Given the description of an element on the screen output the (x, y) to click on. 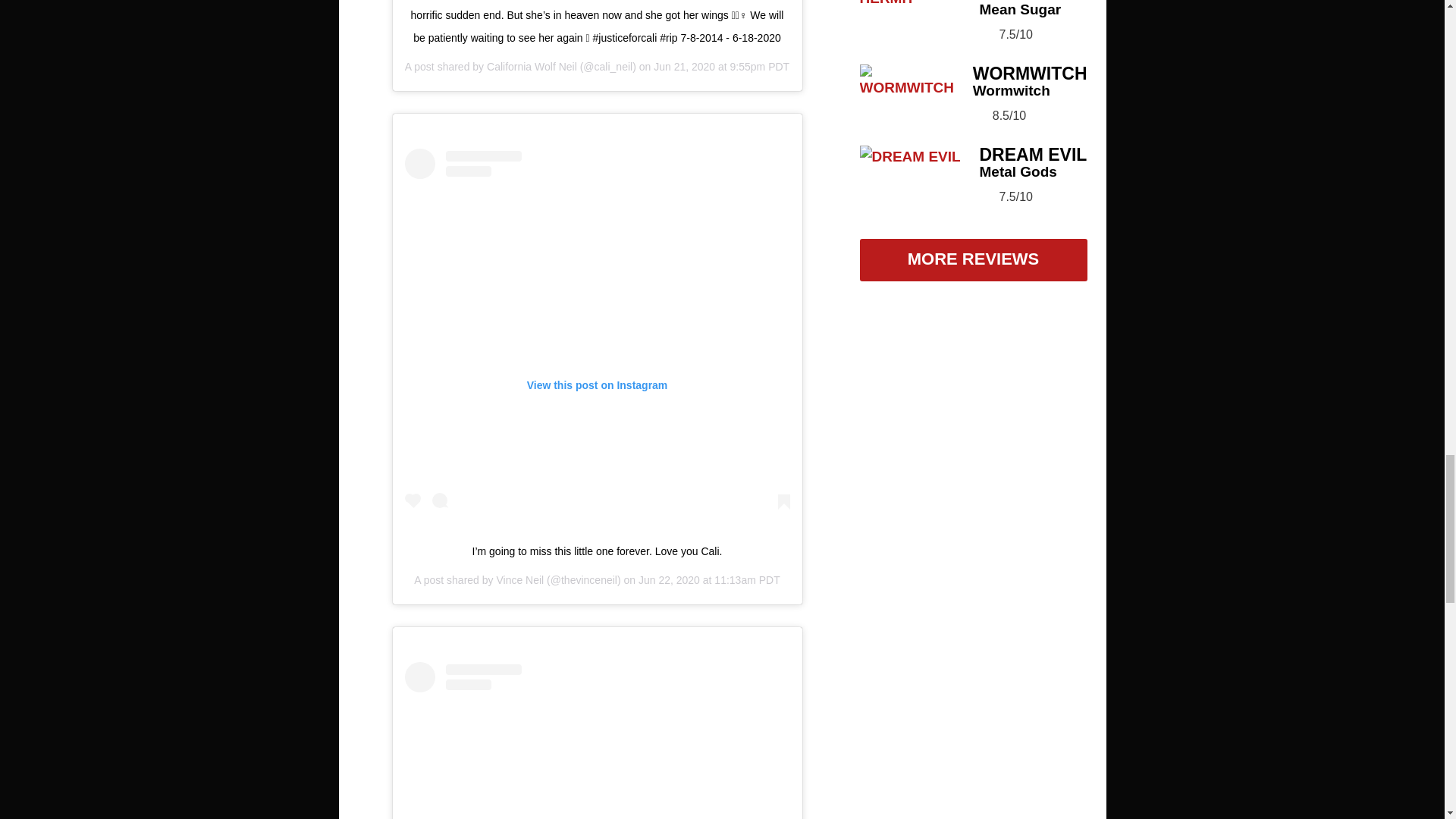
California Wolf Neil (531, 66)
